Given the description of an element on the screen output the (x, y) to click on. 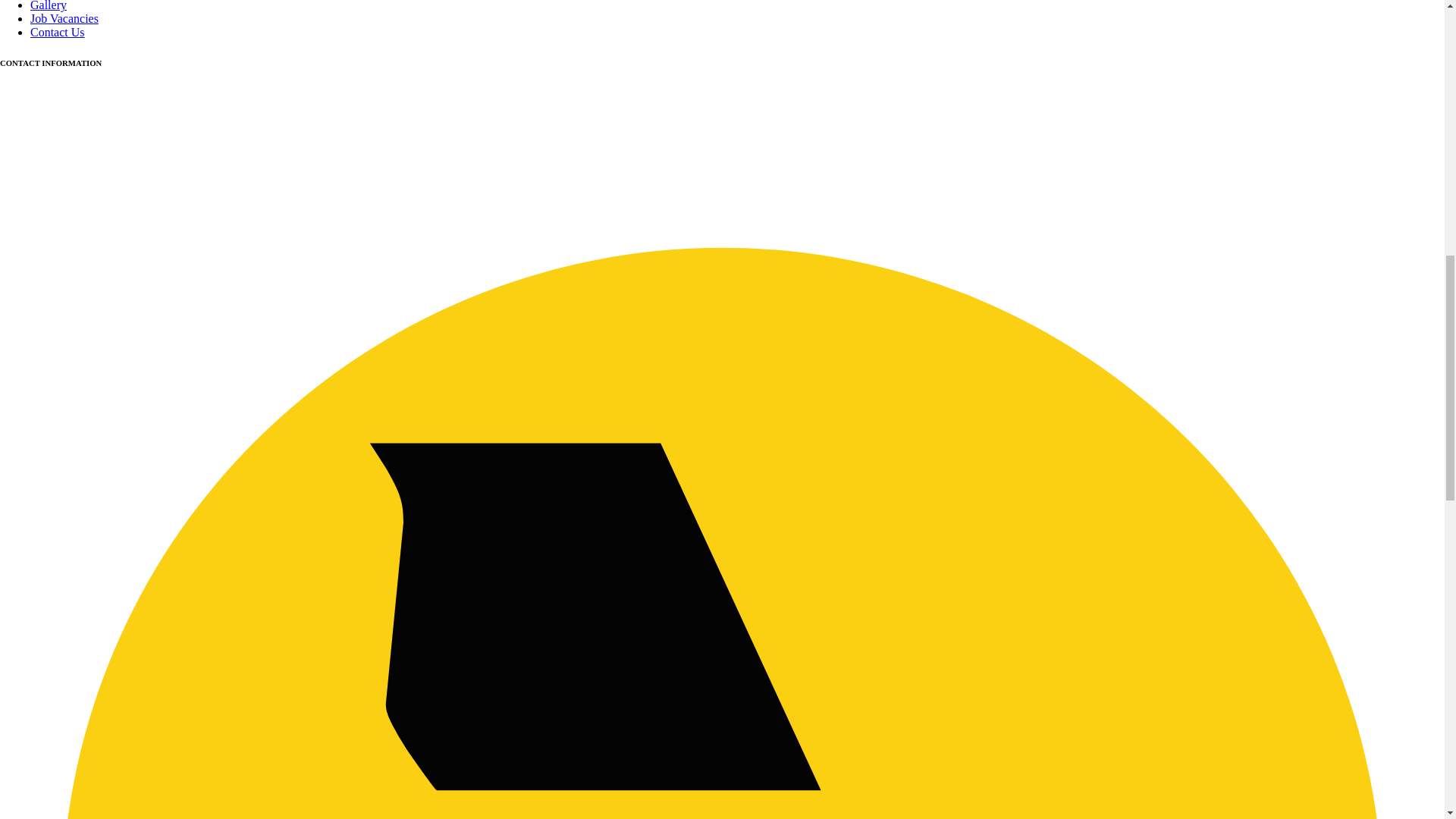
Contact Us (57, 31)
Gallery (48, 5)
Job Vacancies (64, 18)
